Given the description of an element on the screen output the (x, y) to click on. 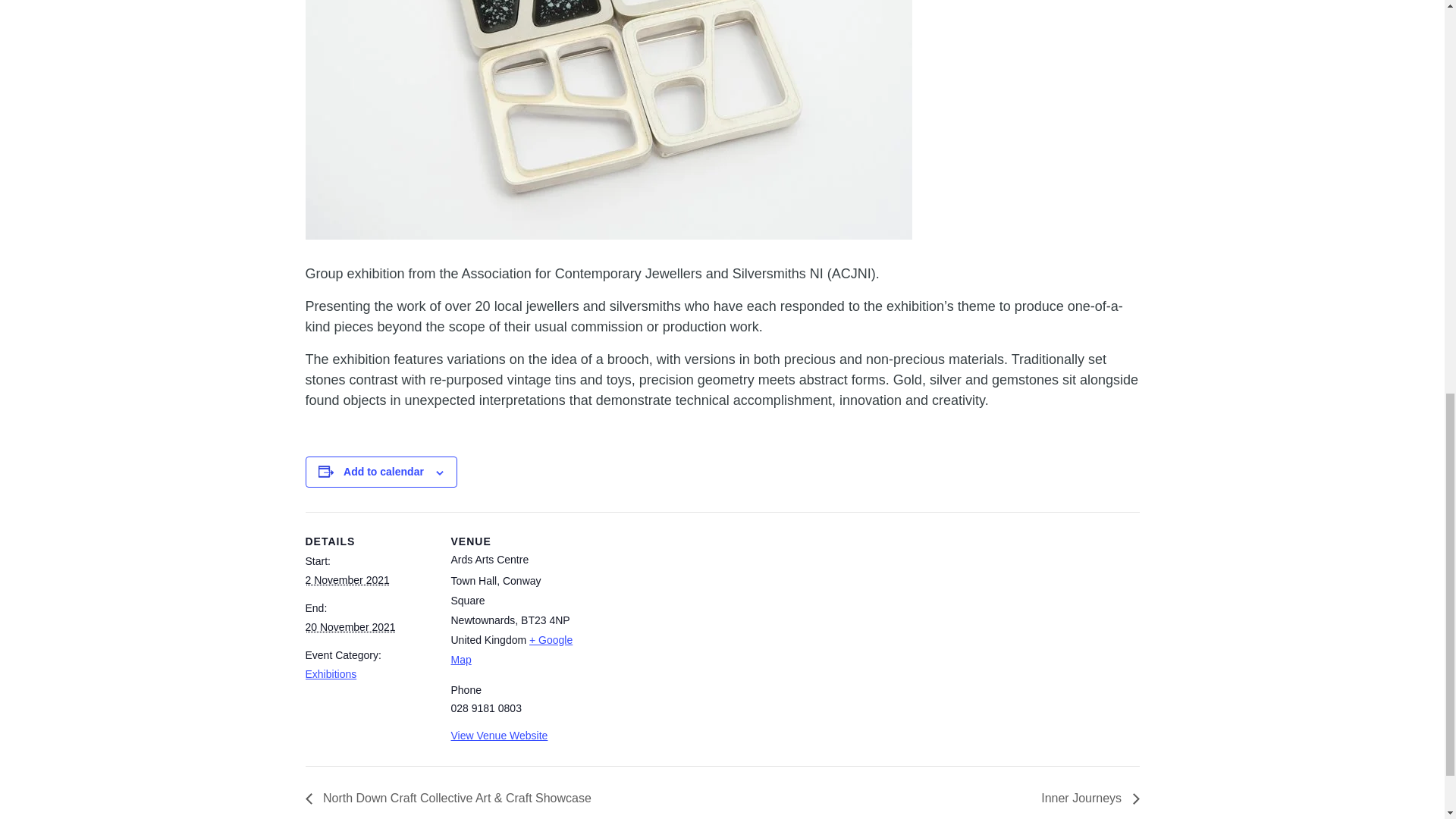
Click to view a Google Map (510, 649)
2021-11-02 (346, 580)
2021-11-20 (349, 626)
